Given the description of an element on the screen output the (x, y) to click on. 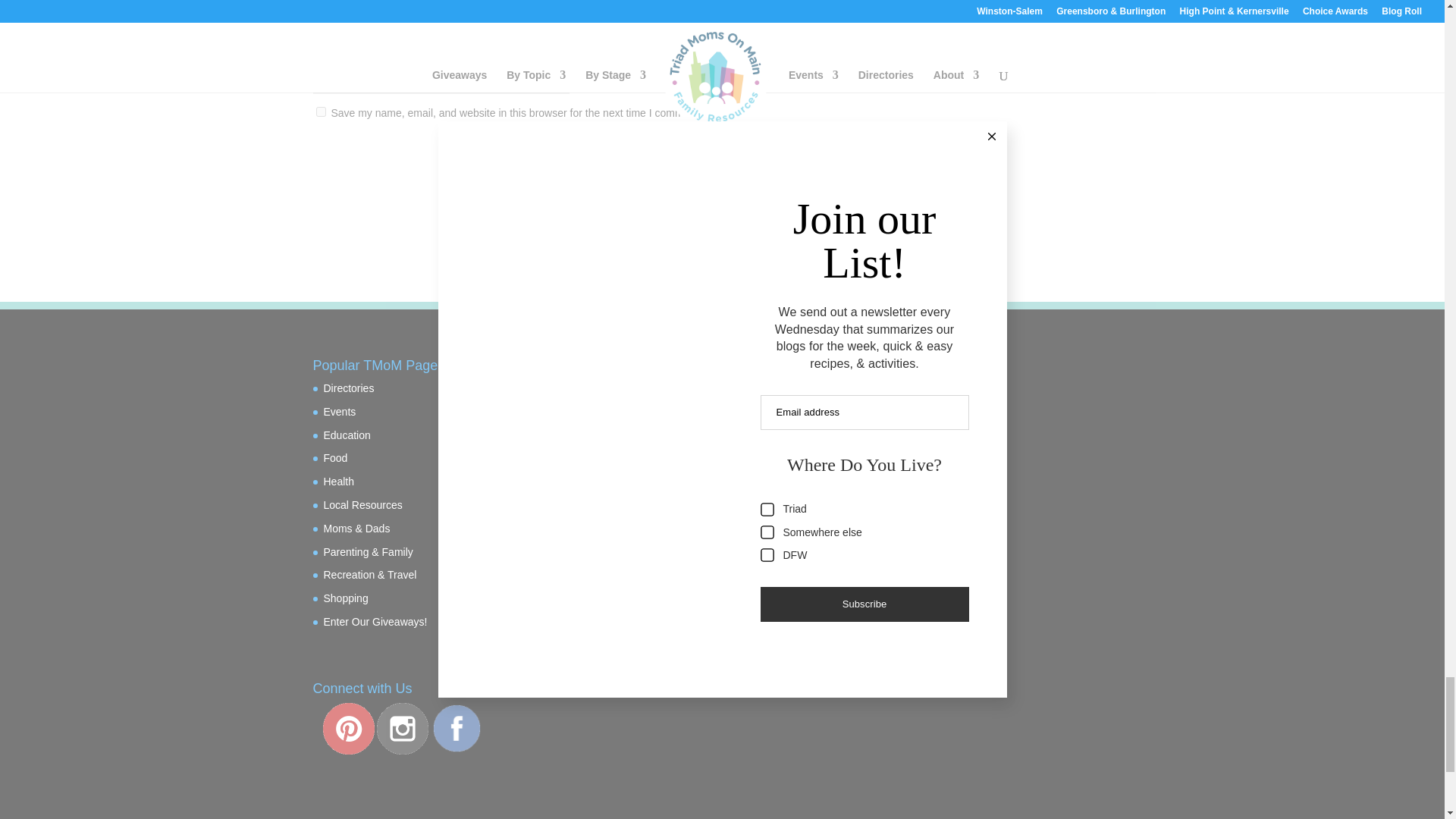
yes (319, 112)
Submit Comment (784, 152)
